Given the description of an element on the screen output the (x, y) to click on. 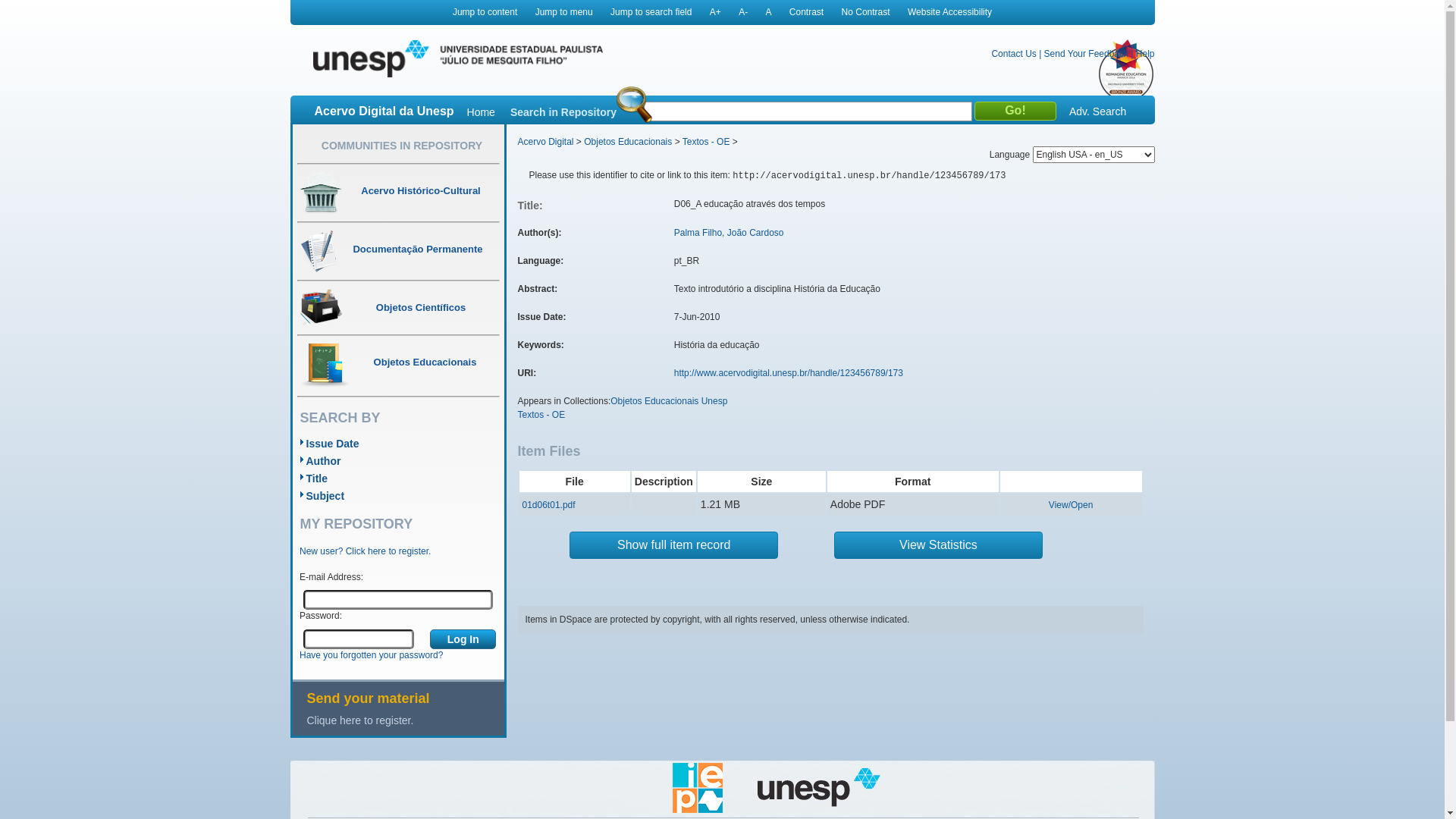
Jump to search field Element type: text (650, 11)
New user? Click here to register. Element type: text (364, 551)
Log In Element type: text (462, 639)
Textos - OE Element type: text (706, 141)
Title Element type: text (317, 478)
Have you forgotten your password? Element type: text (370, 654)
A- Element type: text (742, 11)
A Element type: text (768, 11)
Jump to menu Element type: text (564, 11)
No Contrast Element type: text (865, 11)
Adv. Search Element type: text (1097, 111)
01d06t01.pdf Element type: text (547, 504)
COMMUNITIES IN REPOSITORY Element type: text (401, 145)
Help Element type: text (1144, 53)
View/Open Element type: text (1070, 504)
Textos - OE Element type: text (540, 414)
Home Element type: text (481, 111)
Go! Element type: text (1015, 110)
Acervo Digital Element type: text (545, 141)
A+ Element type: text (715, 11)
Contact Us Element type: text (1013, 53)
Issue Date Element type: text (332, 443)
Show full item record Element type: text (673, 544)
Website Accessibility Element type: text (949, 11)
Objetos Educacionais Element type: text (627, 141)
Subject Element type: text (325, 495)
Clique here to register. Element type: text (404, 720)
Author Element type: text (323, 461)
Contrast Element type: text (806, 11)
http://www.acervodigital.unesp.br/handle/123456789/173 Element type: text (788, 372)
Objetos Educacionais Unesp Element type: text (668, 400)
Jump to content Element type: text (484, 11)
Send Your Feedback Element type: text (1086, 53)
View Statistics Element type: text (938, 544)
